Given the description of an element on the screen output the (x, y) to click on. 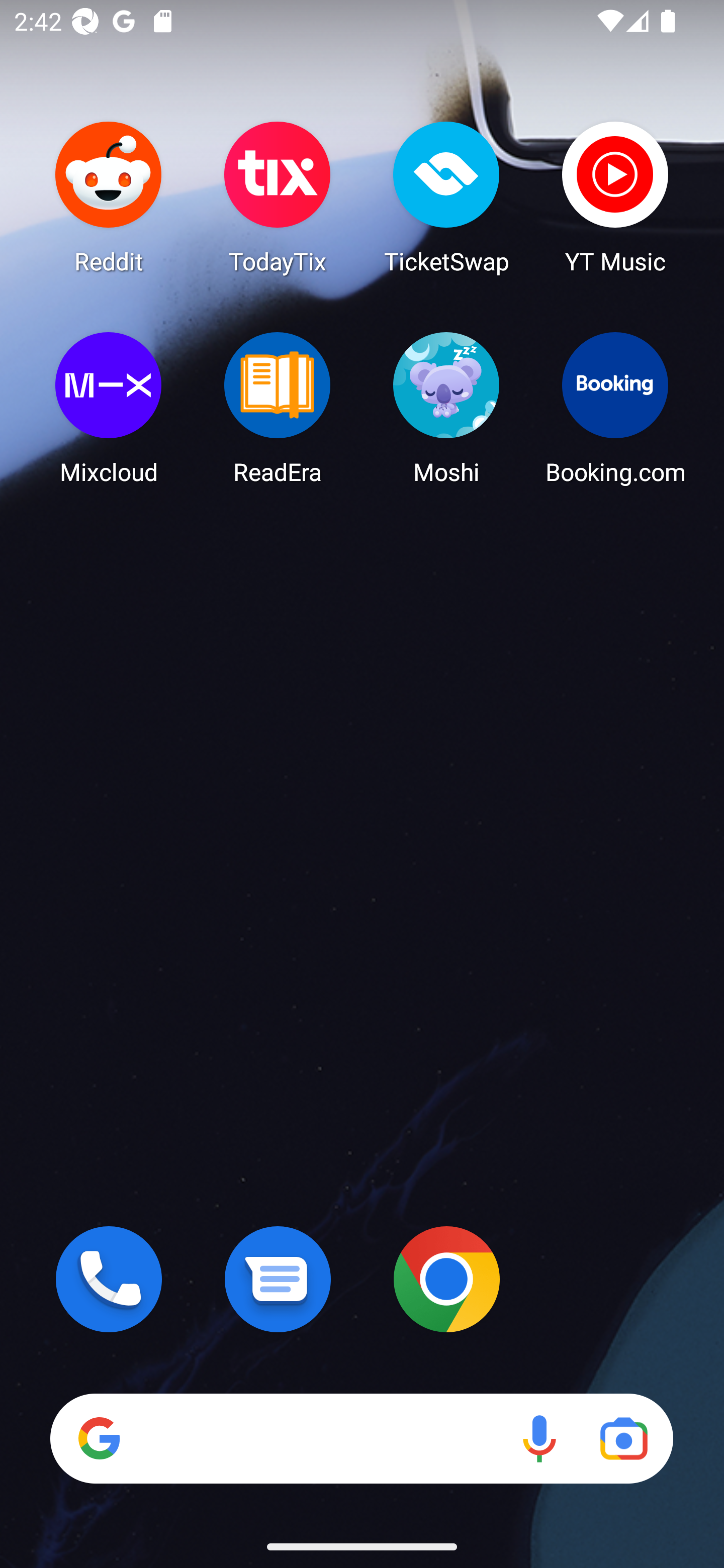
Reddit (108, 196)
TodayTix (277, 196)
TicketSwap (445, 196)
YT Music (615, 196)
Mixcloud (108, 407)
ReadEra (277, 407)
Moshi (445, 407)
Booking.com (615, 407)
Phone (108, 1279)
Messages (277, 1279)
Chrome (446, 1279)
Search Voice search Google Lens (361, 1438)
Voice search (539, 1438)
Google Lens (623, 1438)
